Given the description of an element on the screen output the (x, y) to click on. 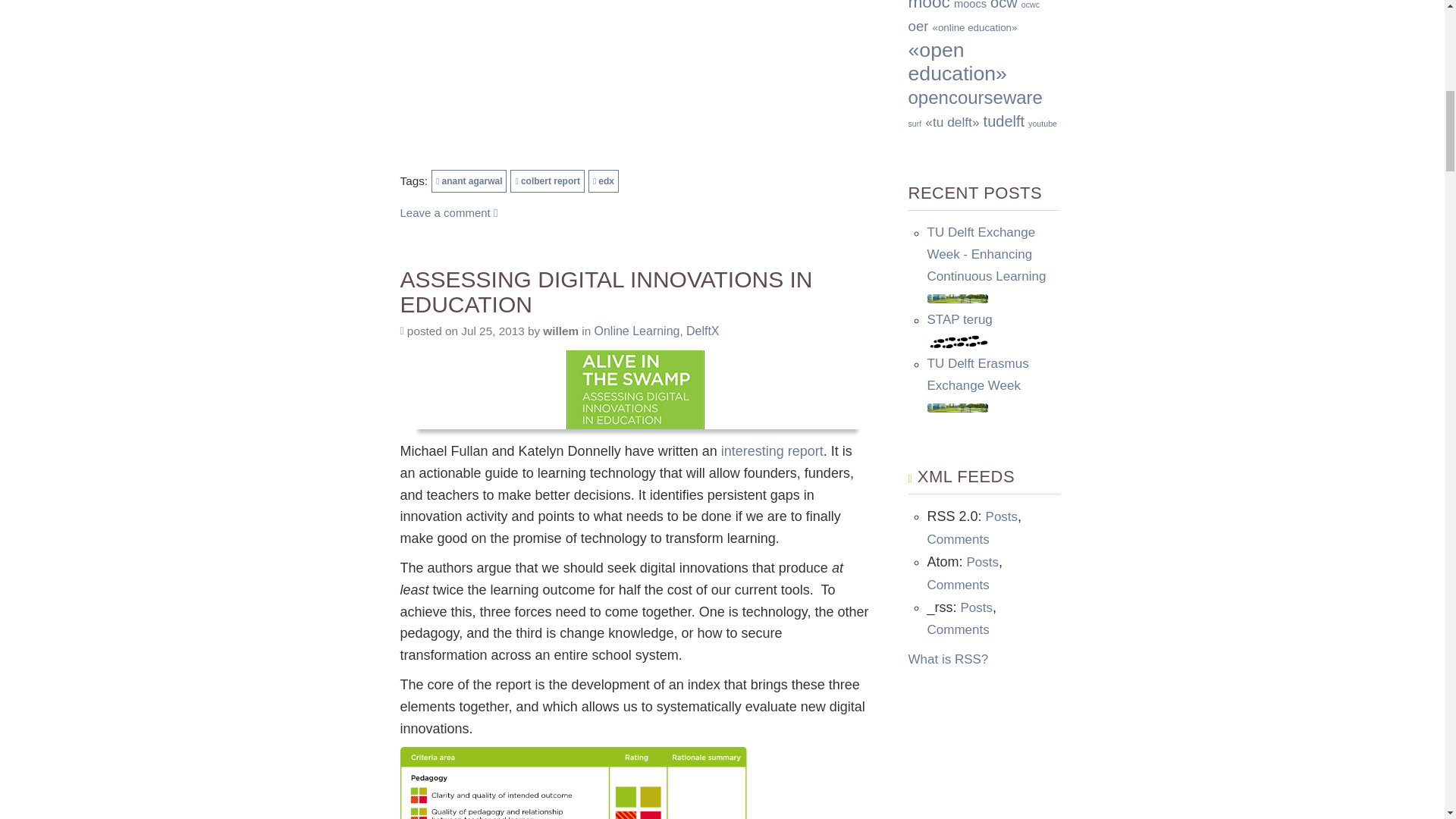
DelftX (702, 330)
anant agarwal (468, 181)
edx (603, 181)
ASSESSING DIGITAL INNOVATIONS IN EDUCATION (635, 291)
interesting report (772, 450)
Online Learning (636, 330)
colbert report (547, 181)
Browse category (636, 330)
Browse category (702, 330)
Leave a comment (448, 212)
